Given the description of an element on the screen output the (x, y) to click on. 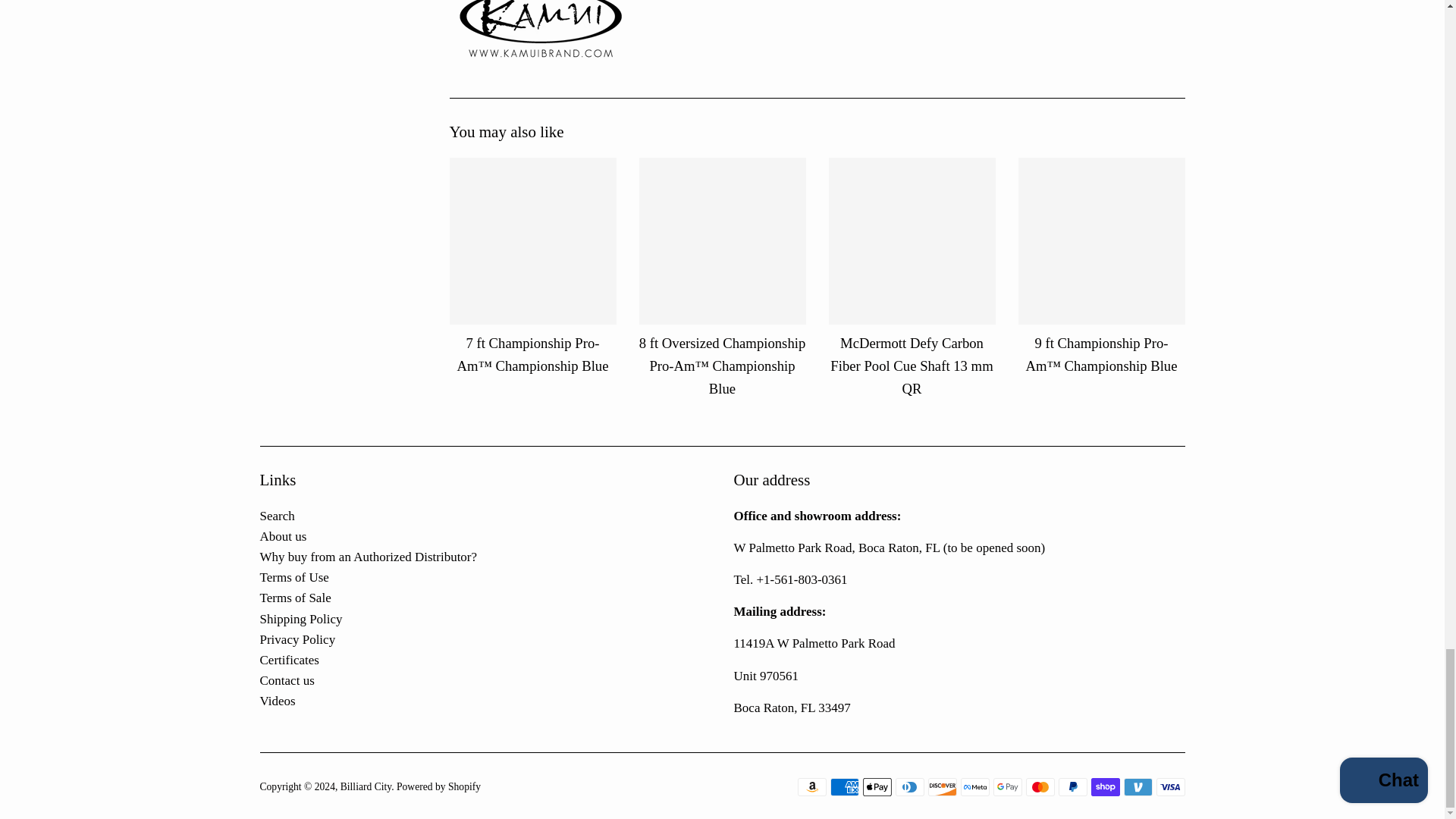
Meta Pay (973, 787)
Diners Club (909, 787)
Amazon (812, 787)
Shop Pay (1104, 787)
PayPal (1072, 787)
American Express (844, 787)
McDermott Defy Carbon Fiber Pool Cue Shaft 13 mm QR (911, 241)
Visa (1170, 787)
Apple Pay (877, 787)
Discover (942, 787)
